Given the description of an element on the screen output the (x, y) to click on. 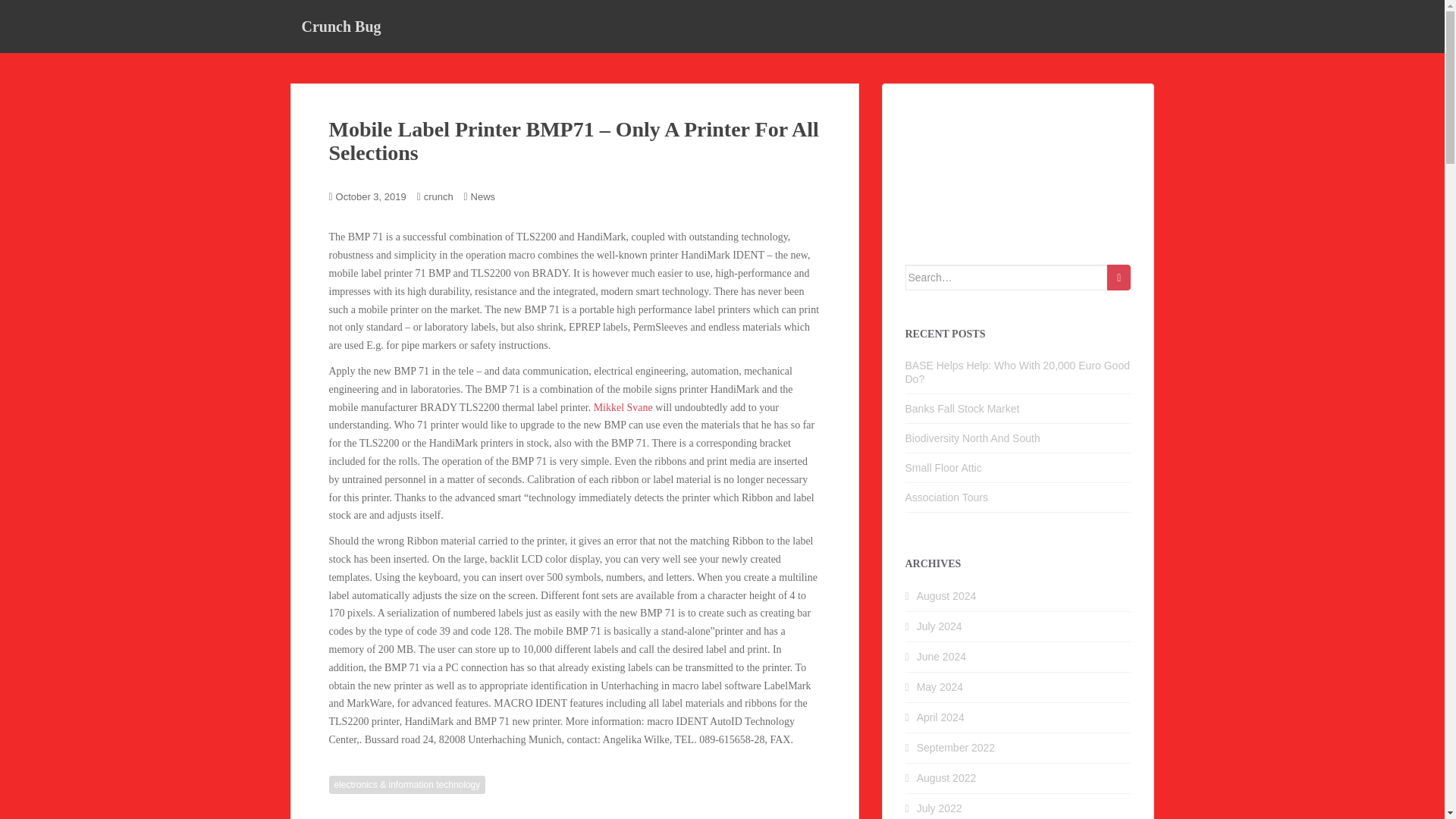
Biodiversity North And South (973, 438)
August 2022 (946, 777)
Small Floor Attic (943, 467)
Mikkel Svane (623, 407)
August 2024 (946, 595)
Crunch Bug (340, 26)
April 2024 (940, 717)
June 2024 (941, 656)
crunch (437, 196)
Crunch Bug (340, 26)
